Given the description of an element on the screen output the (x, y) to click on. 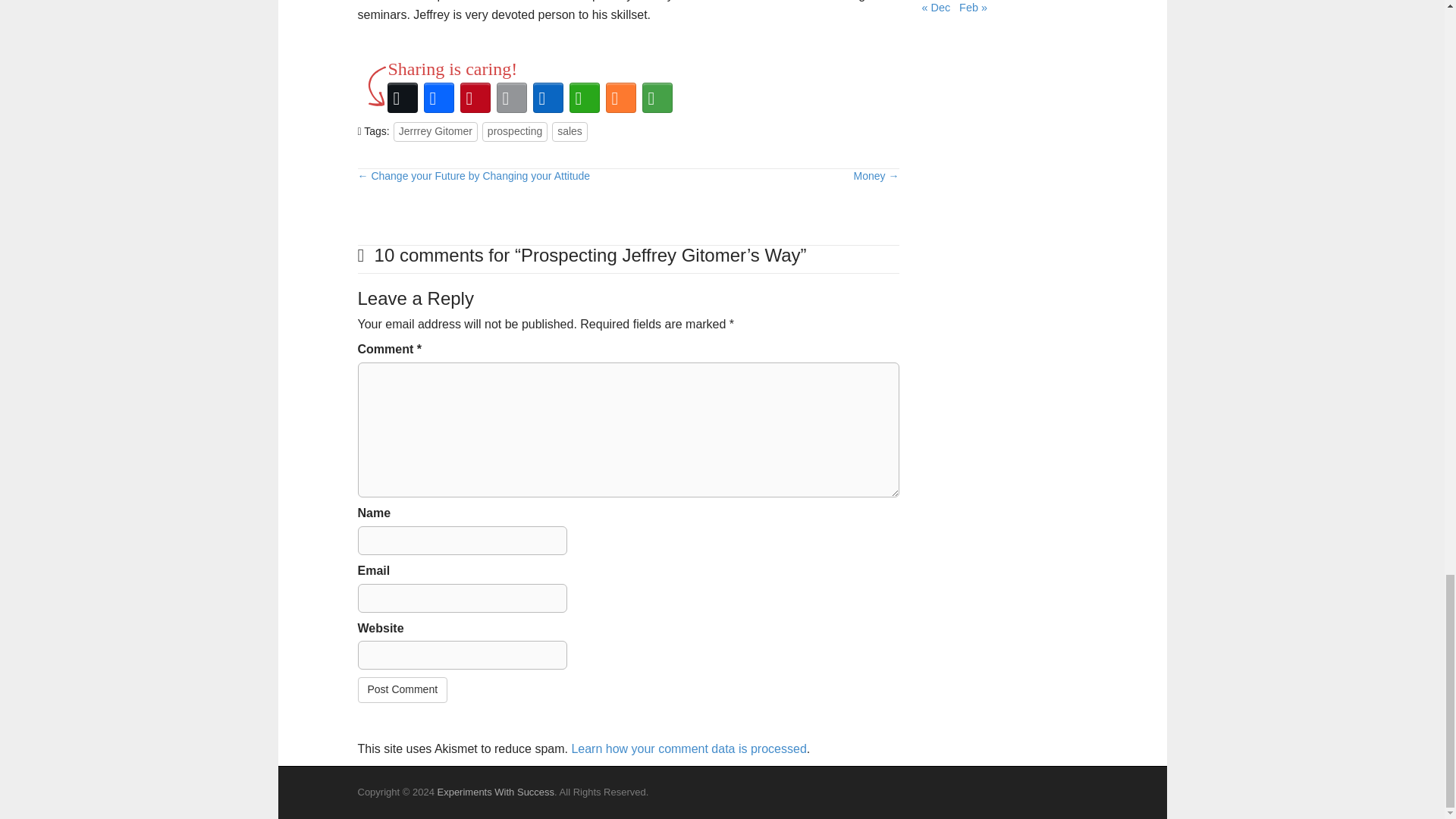
Learn how your comment data is processed (688, 748)
sales (569, 131)
Blogger Post (620, 97)
WhatsApp (584, 97)
Pinterest (475, 97)
prospecting (514, 131)
Facebook (438, 97)
Email This (511, 97)
More Options (657, 97)
Post Comment (403, 689)
LinkedIn (547, 97)
Post Comment (403, 689)
Jerrrey Gitomer (435, 131)
